Given the description of an element on the screen output the (x, y) to click on. 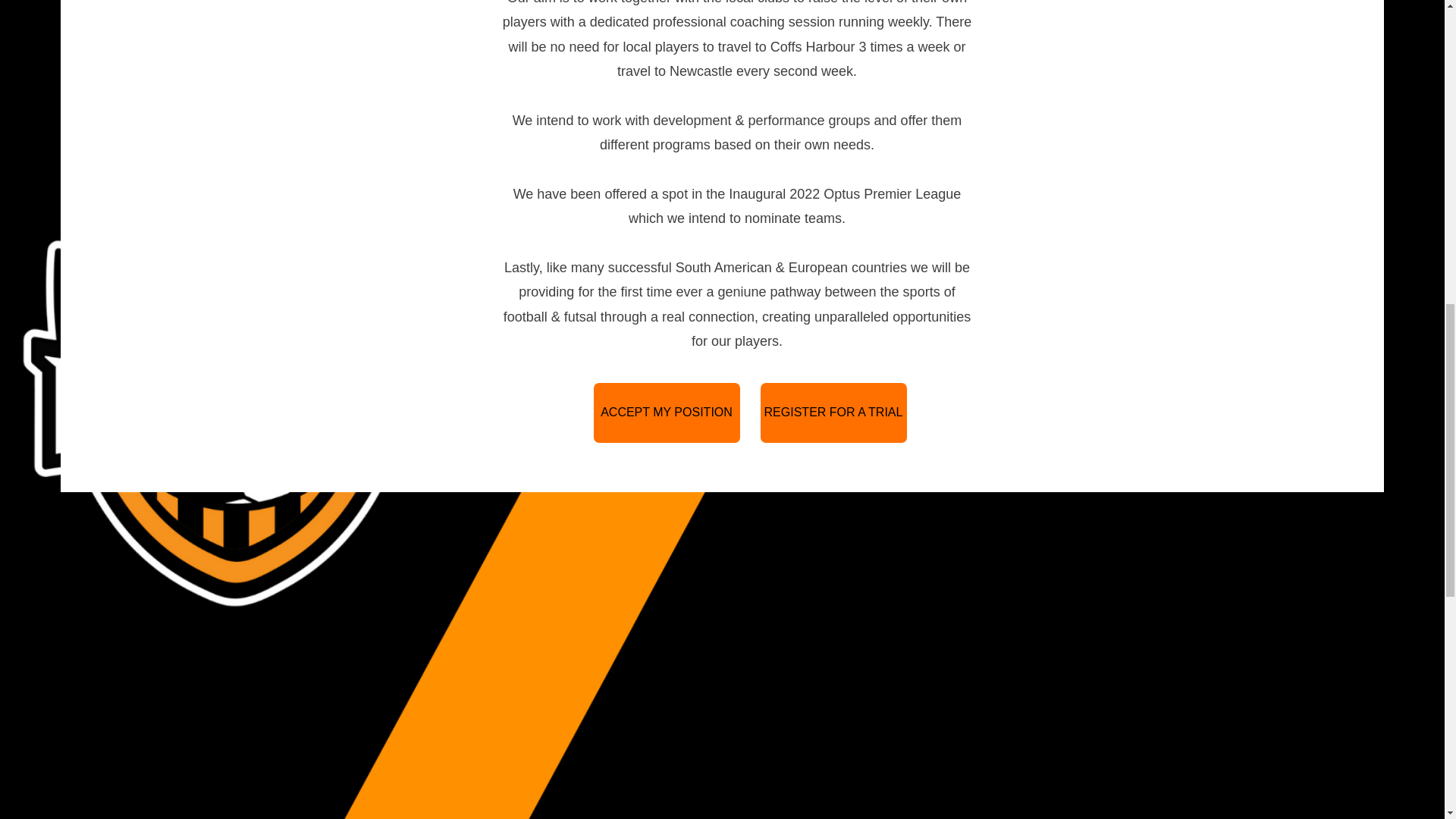
ACCEPT MY POSITION (665, 413)
REGISTER FOR A TRIAL (832, 413)
